Given the description of an element on the screen output the (x, y) to click on. 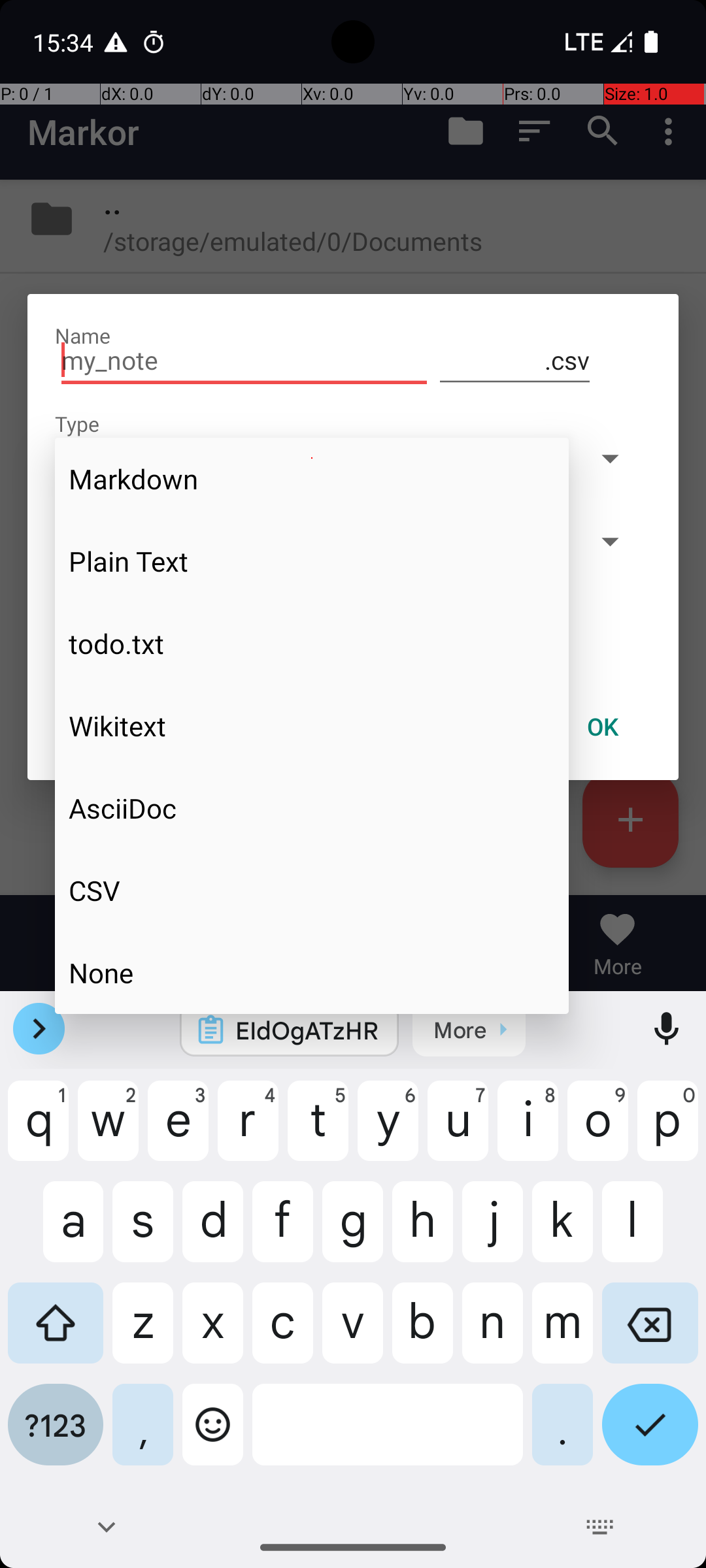
Markdown Element type: android.widget.TextView (311, 478)
Plain Text Element type: android.widget.TextView (311, 561)
todo.txt Element type: android.widget.TextView (311, 643)
Wikitext Element type: android.widget.TextView (311, 725)
AsciiDoc Element type: android.widget.TextView (311, 808)
CSV Element type: android.widget.TextView (311, 890)
None Element type: android.widget.TextView (311, 972)
